Given the description of an element on the screen output the (x, y) to click on. 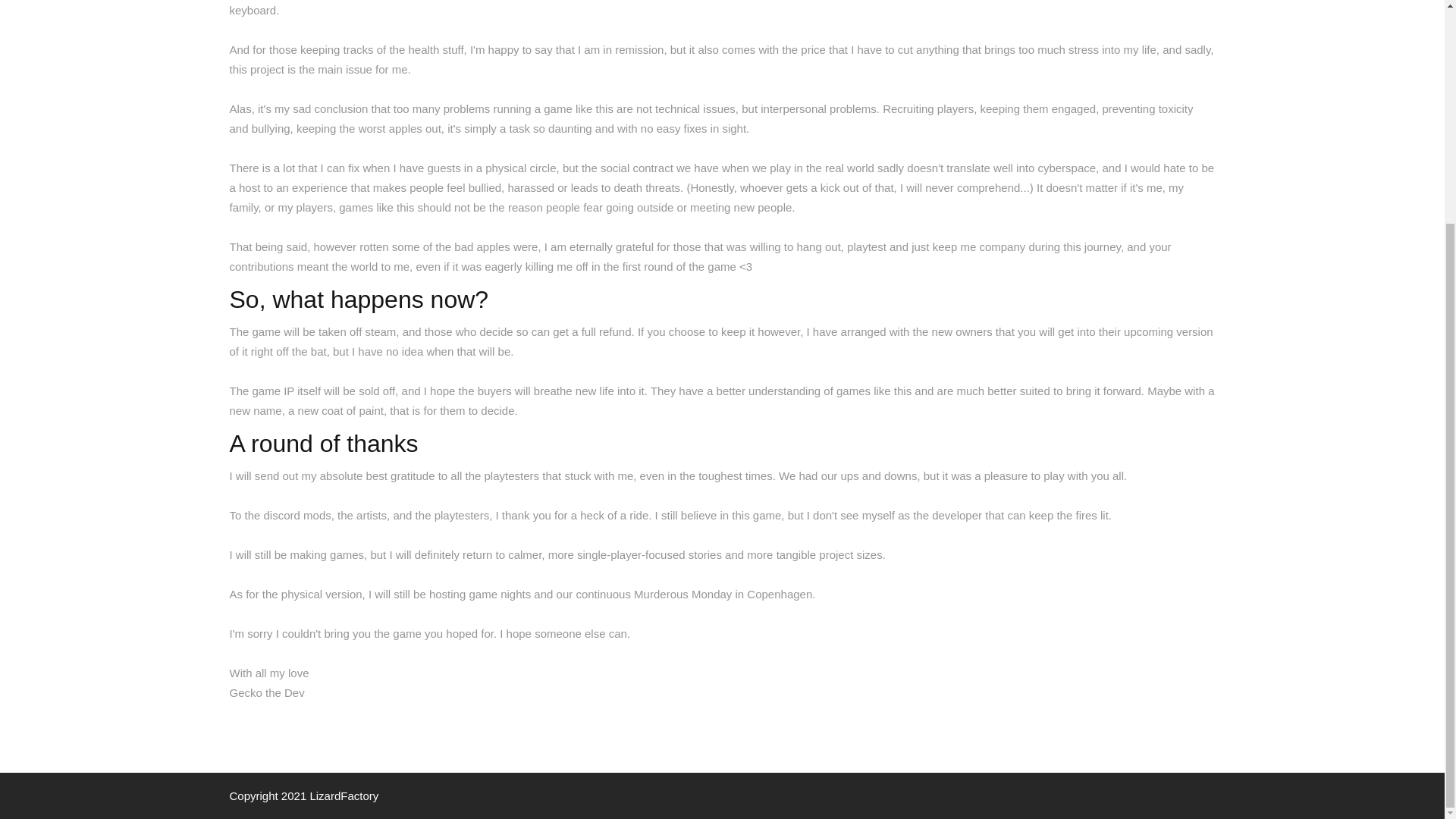
LizardFactory (343, 795)
